Given the description of an element on the screen output the (x, y) to click on. 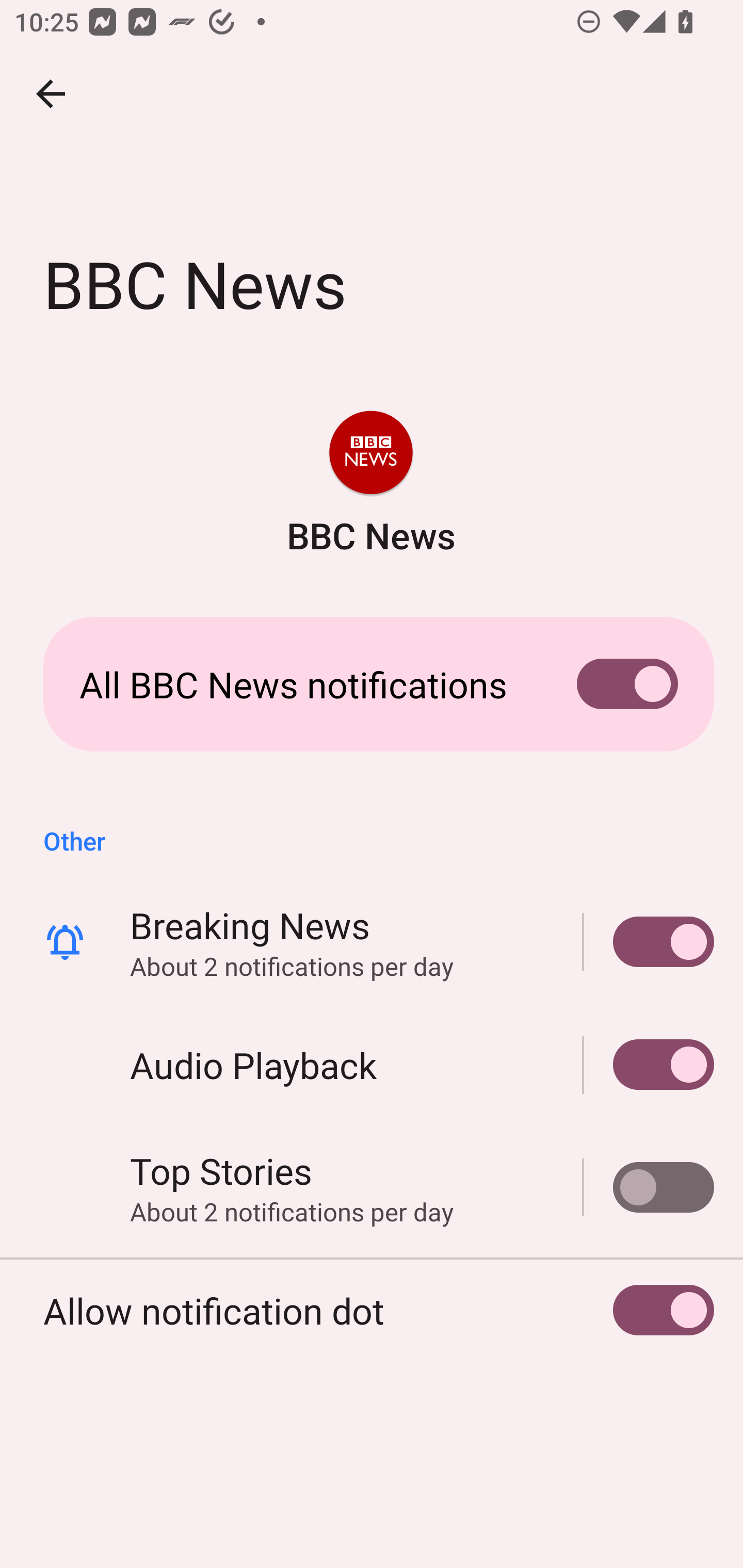
Navigate up (50, 93)
BBC News (371, 477)
BBC News (370, 484)
All BBC News notifications (371, 684)
Breaking News (648, 941)
Audio Playback (371, 1064)
Audio Playback (648, 1064)
Top Stories (648, 1187)
Allow notification dot (371, 1309)
